Given the description of an element on the screen output the (x, y) to click on. 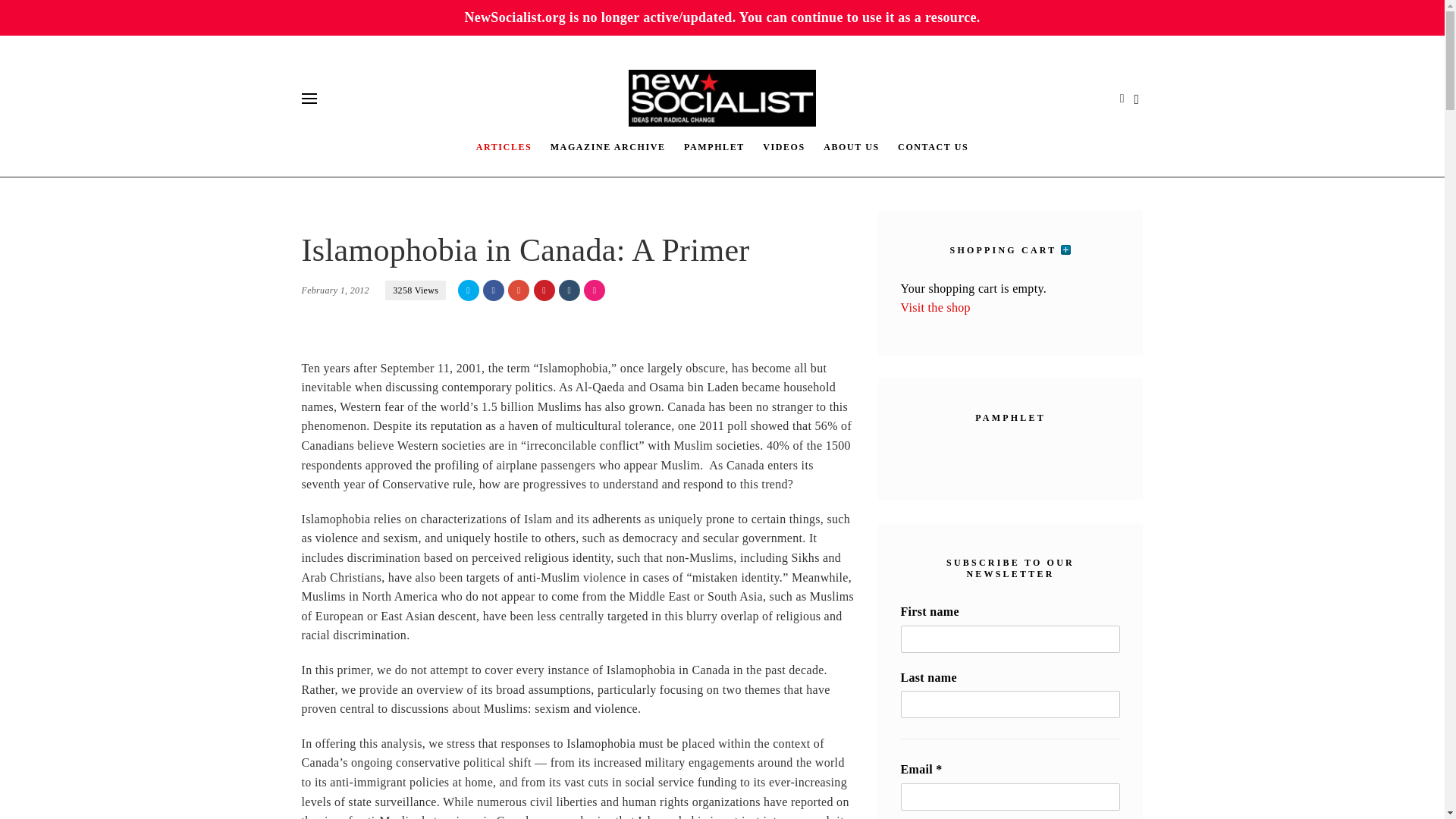
VIDEOS (783, 145)
PAMPHLET (714, 145)
CONTACT US (932, 145)
ABOUT US (850, 145)
Visit Shop (936, 307)
ARTICLES (504, 145)
MAGAZINE ARCHIVE (607, 145)
Email (1011, 796)
First name (1011, 638)
Last name (1011, 704)
New Socialist (722, 97)
